Given the description of an element on the screen output the (x, y) to click on. 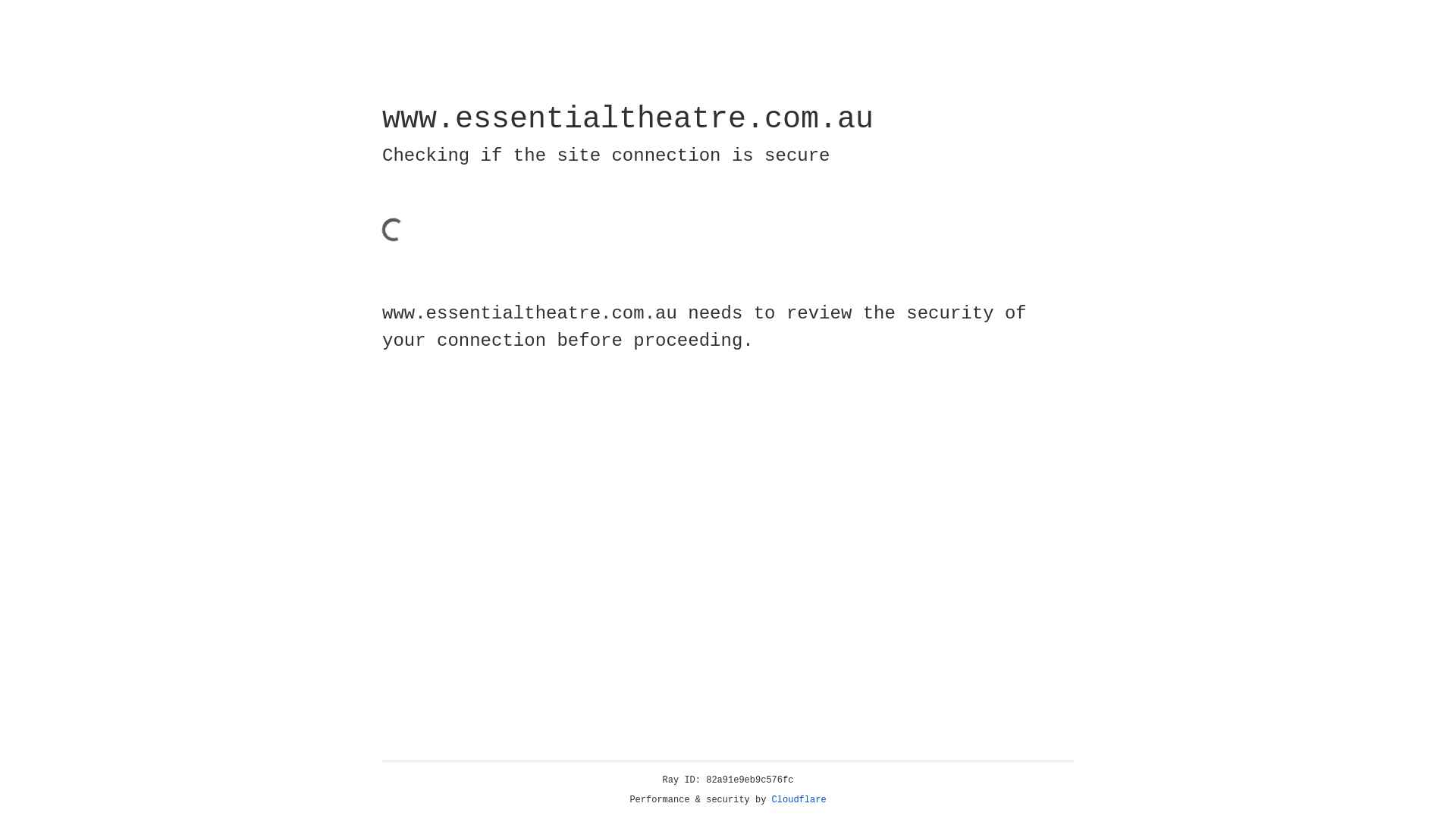
Cloudflare Element type: text (798, 799)
